Given the description of an element on the screen output the (x, y) to click on. 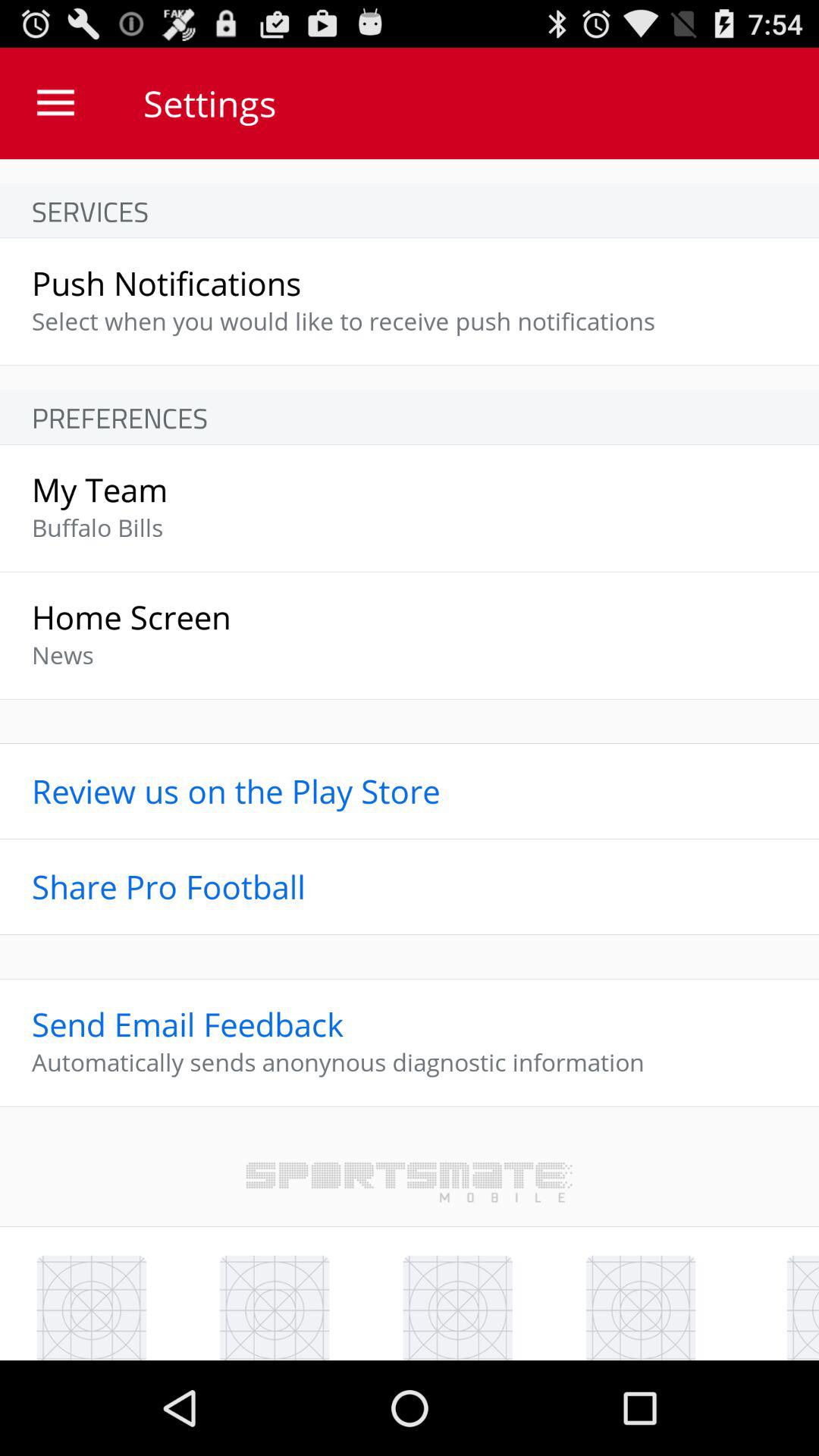
turn on the icon to the left of settings icon (55, 103)
